Given the description of an element on the screen output the (x, y) to click on. 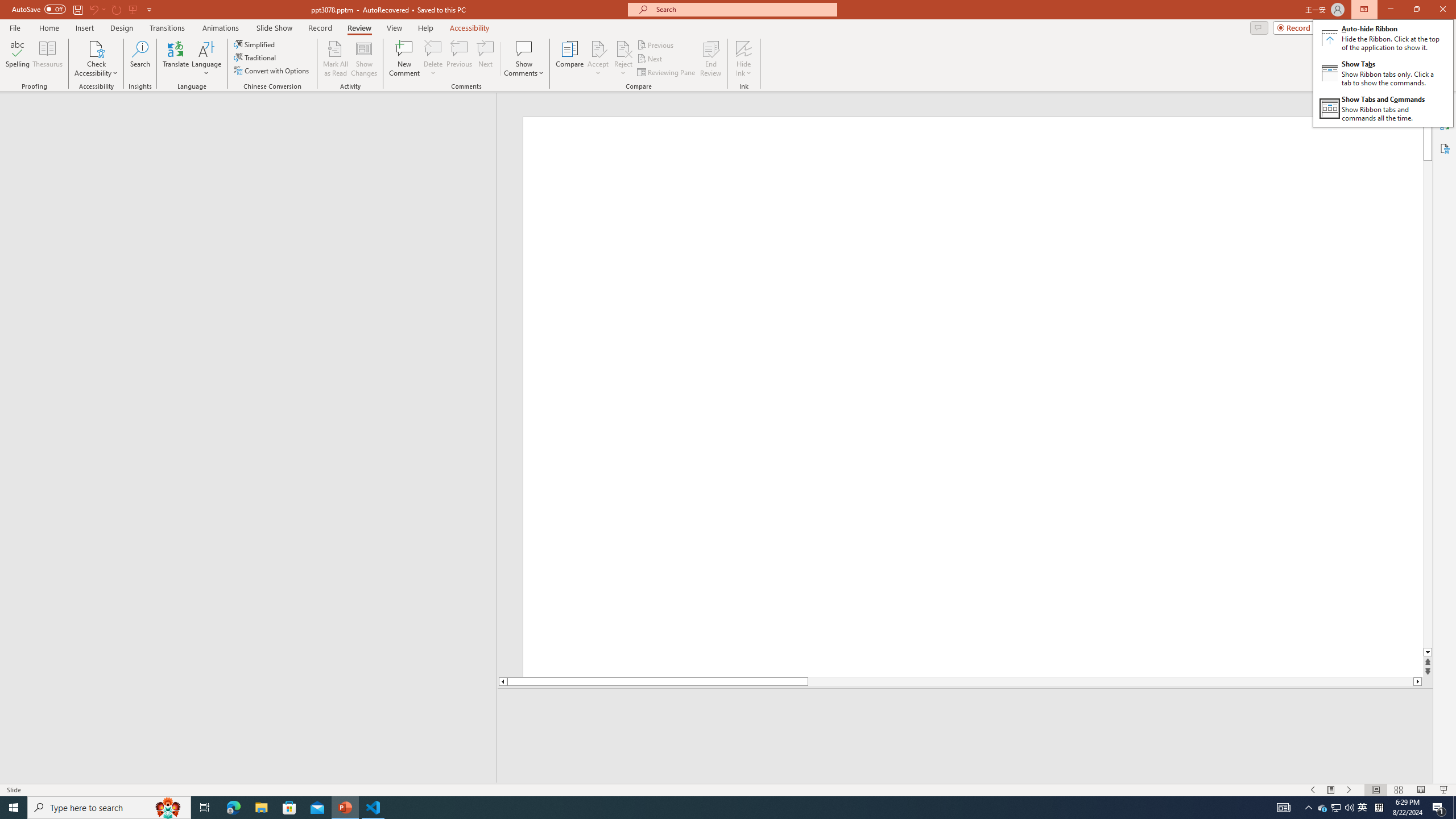
Language (206, 58)
New Comment (403, 58)
Accept Change (598, 48)
